Given the description of an element on the screen output the (x, y) to click on. 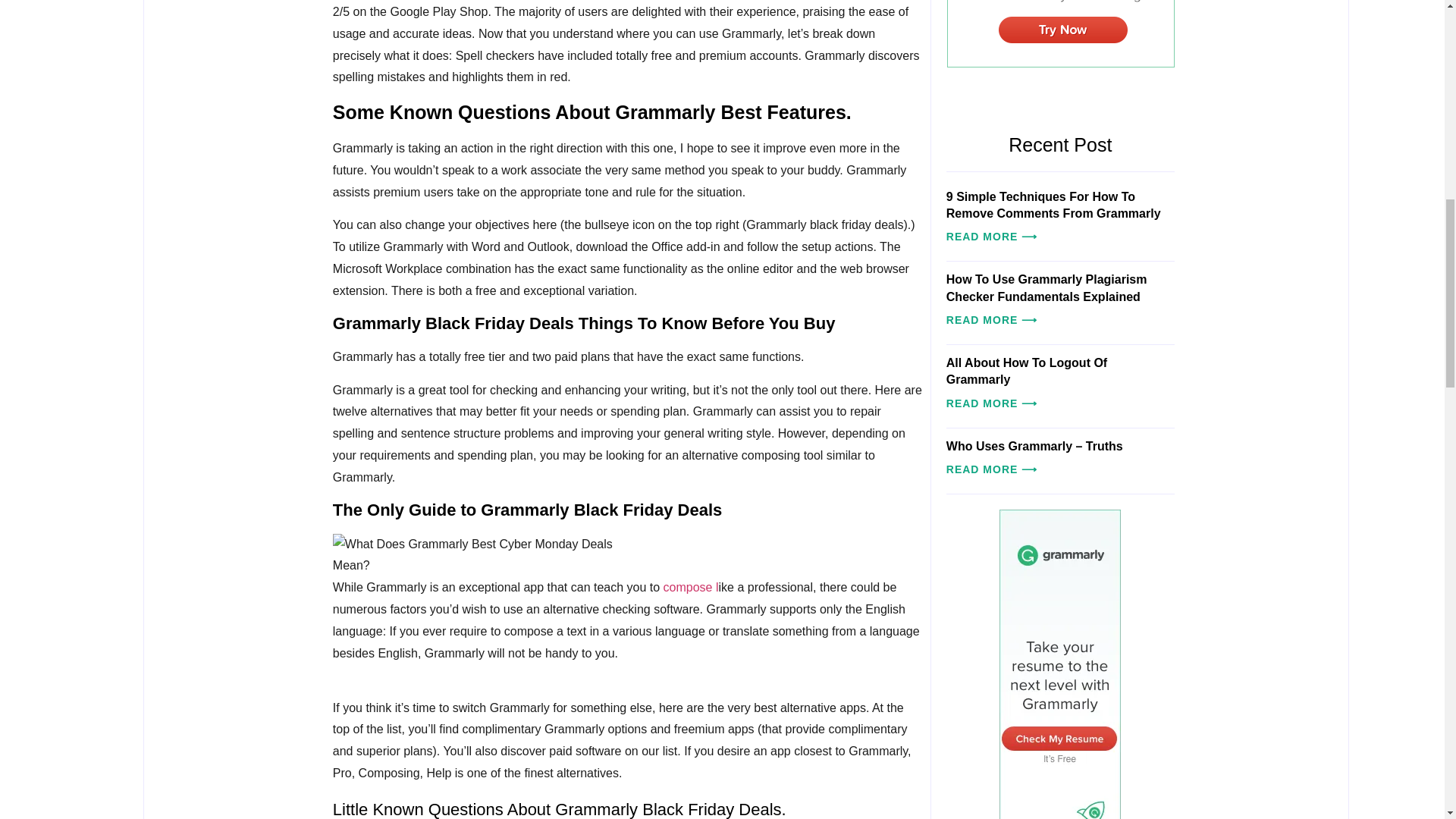
compose (689, 586)
l (717, 586)
All About How To Logout Of Grammarly (1026, 370)
